Given the description of an element on the screen output the (x, y) to click on. 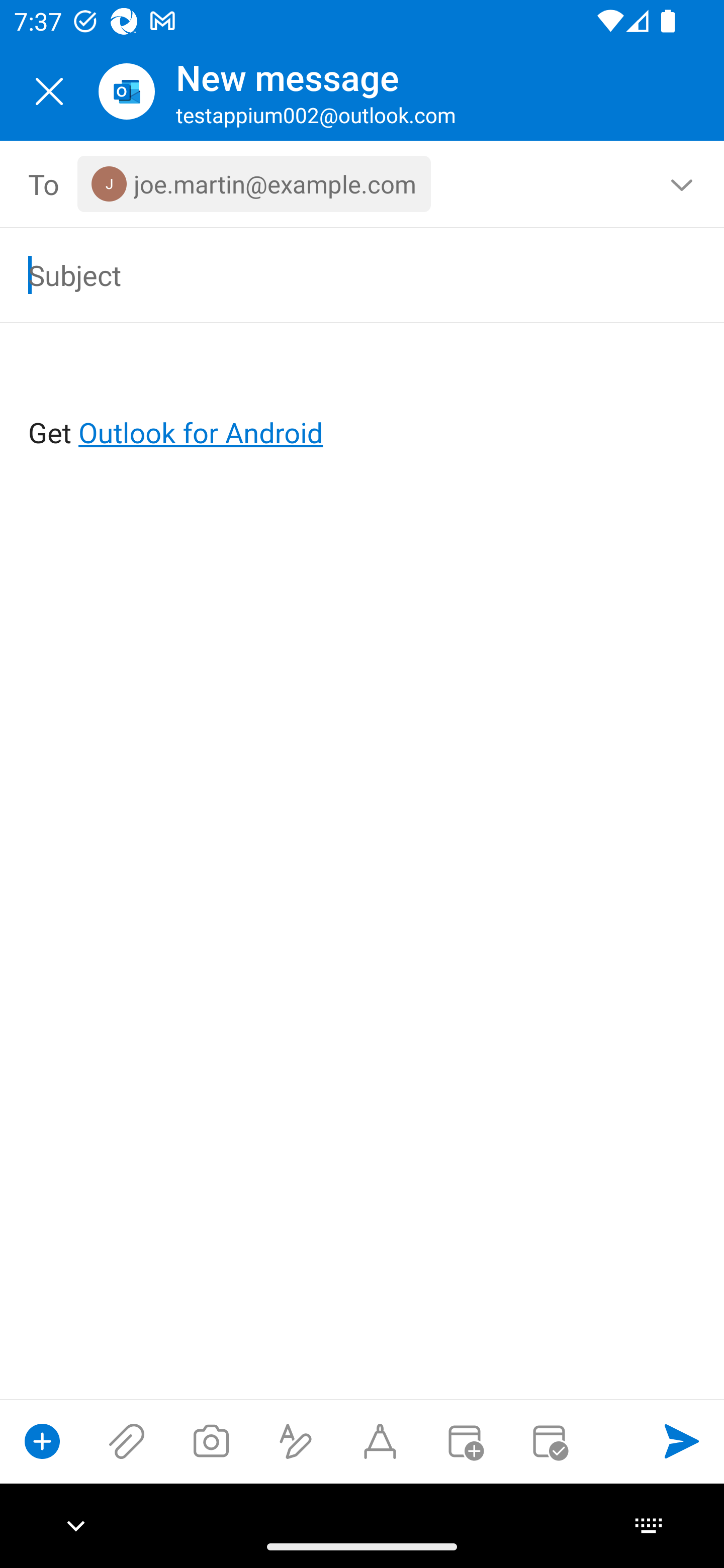
Close (49, 91)
To, 1 recipient <joe.martin@example.com> (362, 184)
Subject (333, 274)


Get Outlook for Android (363, 400)
Show compose options (42, 1440)
Attach files (126, 1440)
Take a photo (210, 1440)
Show formatting options (295, 1440)
Start Ink compose (380, 1440)
Convert to event (464, 1440)
Send availability (548, 1440)
Send (681, 1440)
